Given the description of an element on the screen output the (x, y) to click on. 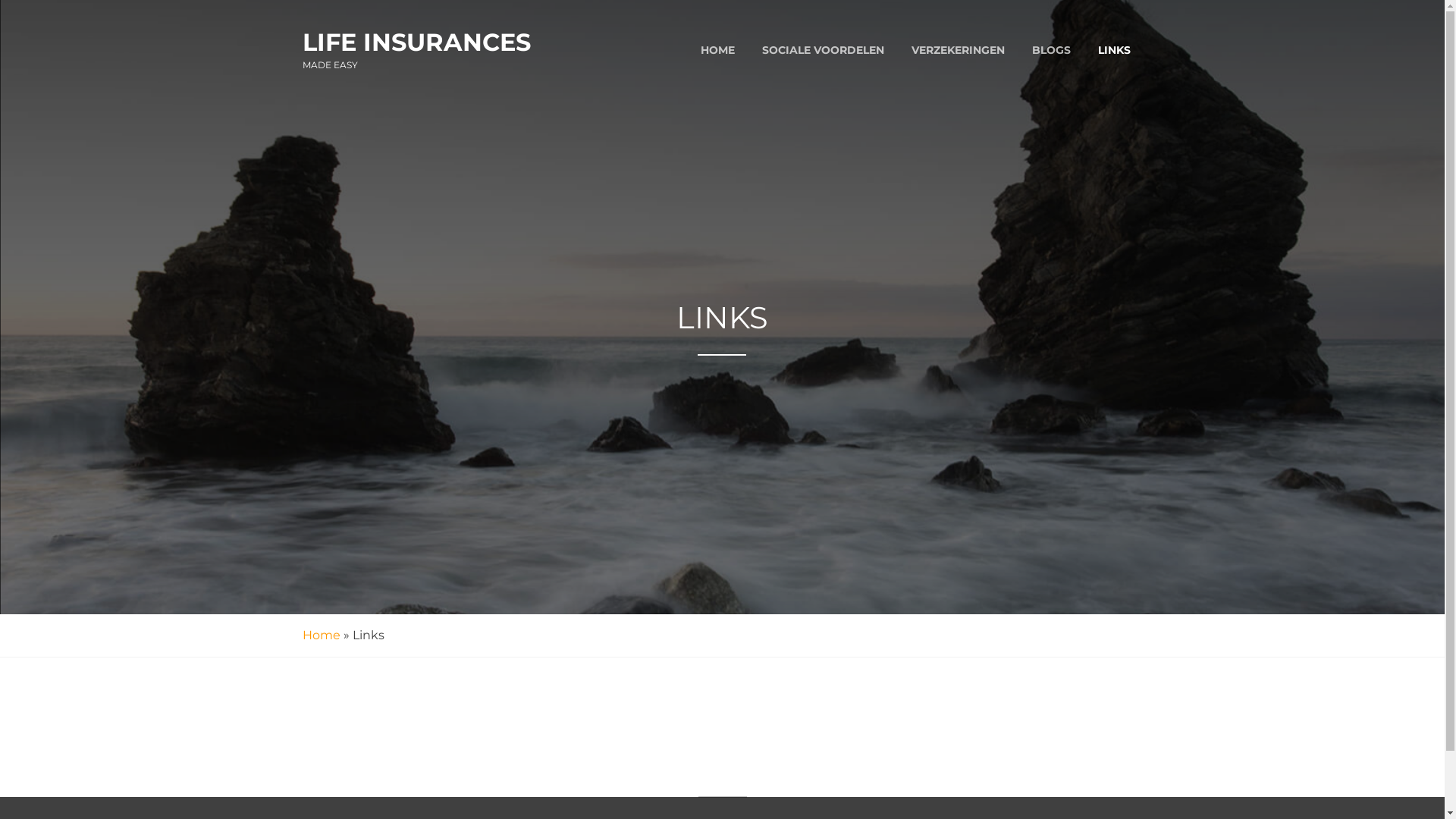
LIFE INSURANCES Element type: text (415, 41)
BLOGS Element type: text (1050, 50)
VERZEKERINGEN Element type: text (957, 50)
HOME Element type: text (717, 50)
LINKS Element type: text (1113, 50)
SOCIALE VOORDELEN Element type: text (822, 50)
Home Element type: text (320, 634)
